Given the description of an element on the screen output the (x, y) to click on. 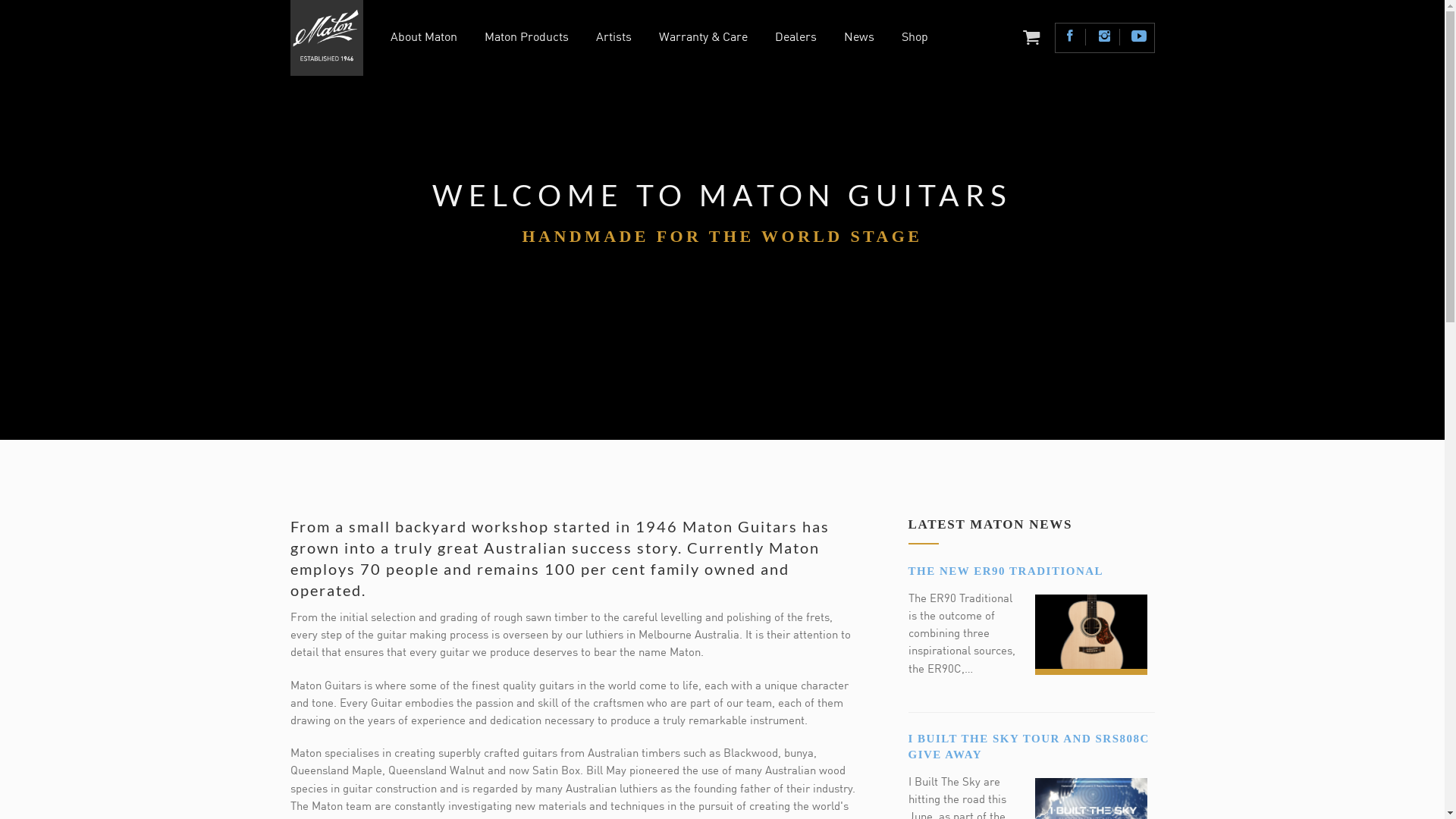
News Element type: text (859, 39)
Maton Products Element type: text (526, 39)
I BUILT THE SKY TOUR AND SRS808C GIVE AWAY Element type: text (1028, 746)
THE NEW ER90 TRADITIONAL Element type: text (1006, 570)
Artists Element type: text (613, 39)
About Maton Element type: text (423, 39)
Dealers Element type: text (795, 39)
Shop Element type: text (914, 39)
Warranty & Care Element type: text (702, 39)
